Given the description of an element on the screen output the (x, y) to click on. 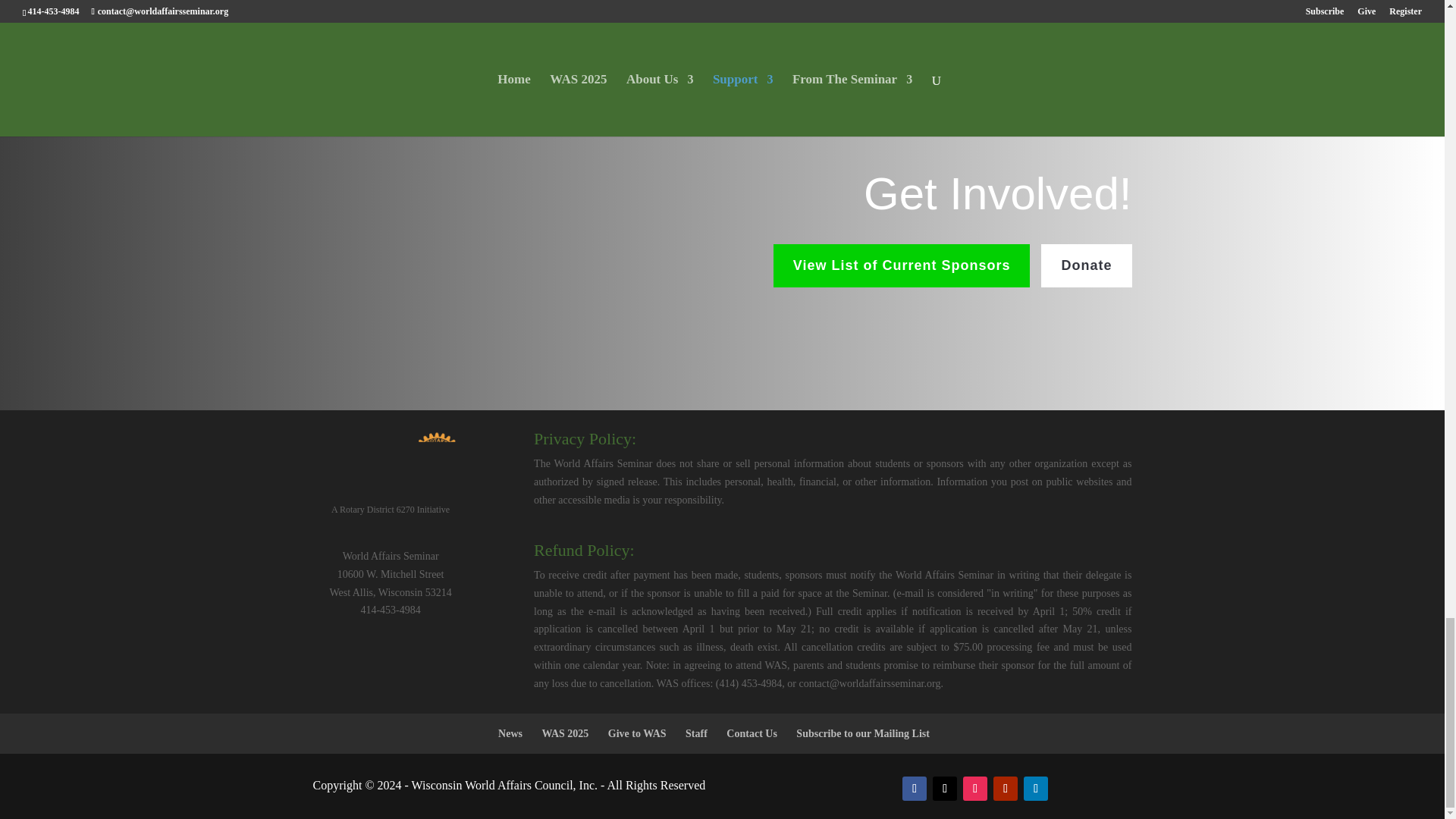
Subscribe to our Mailing List (863, 733)
Rotary District 6270 (390, 462)
Staff (696, 733)
View List of Current Sponsors (901, 265)
Contact Us (751, 733)
Give to WAS (637, 733)
Follow on Facebook (914, 788)
Follow on LinkedIn (1035, 788)
News (509, 733)
Follow on Instagram (974, 788)
Donate (1086, 265)
Follow on X (944, 788)
Follow on Youtube (1004, 788)
WAS 2025 (564, 733)
